Given the description of an element on the screen output the (x, y) to click on. 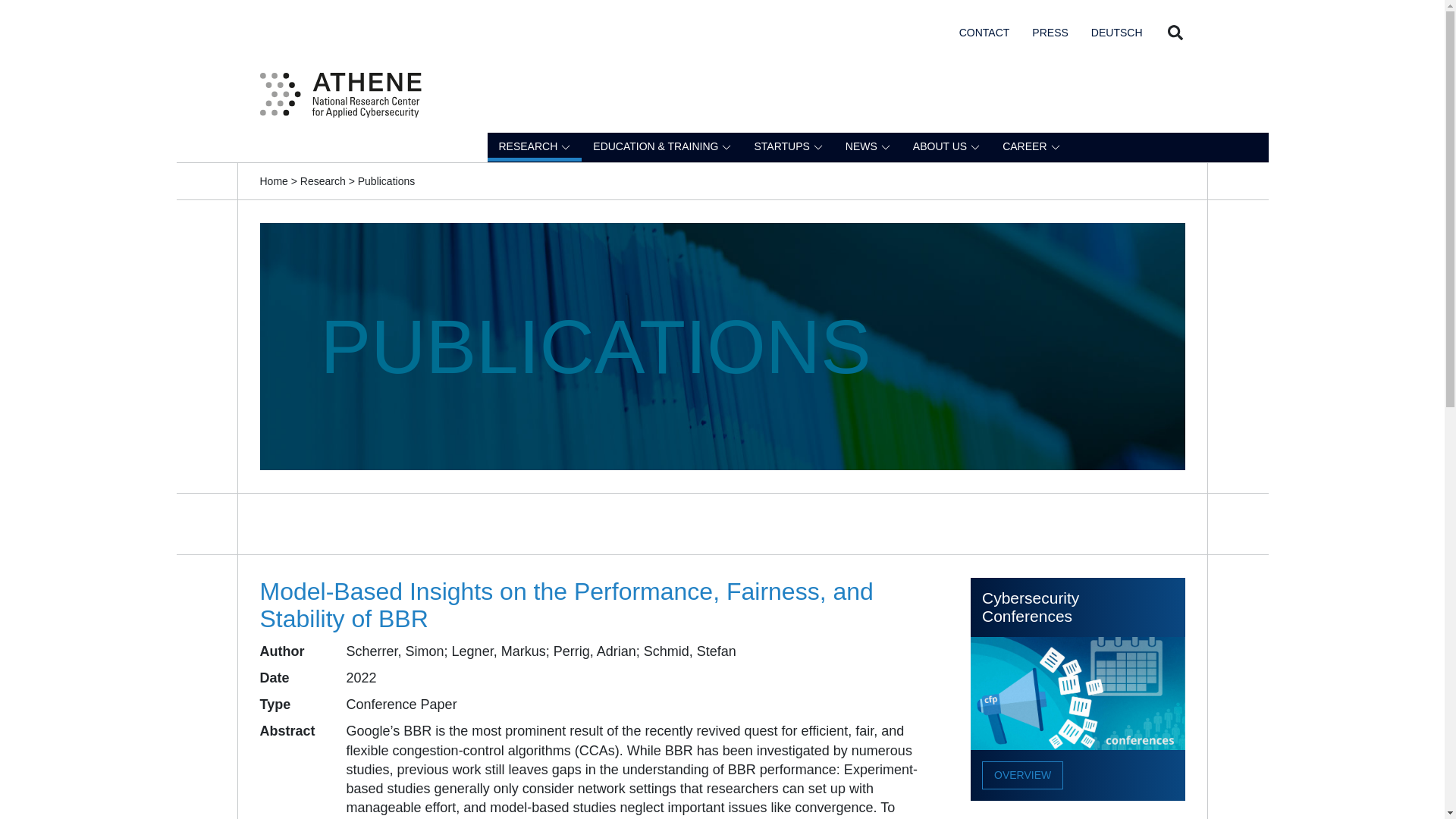
PRESS (1049, 31)
DEUTSCH (1116, 31)
CONTACT (984, 31)
